Given the description of an element on the screen output the (x, y) to click on. 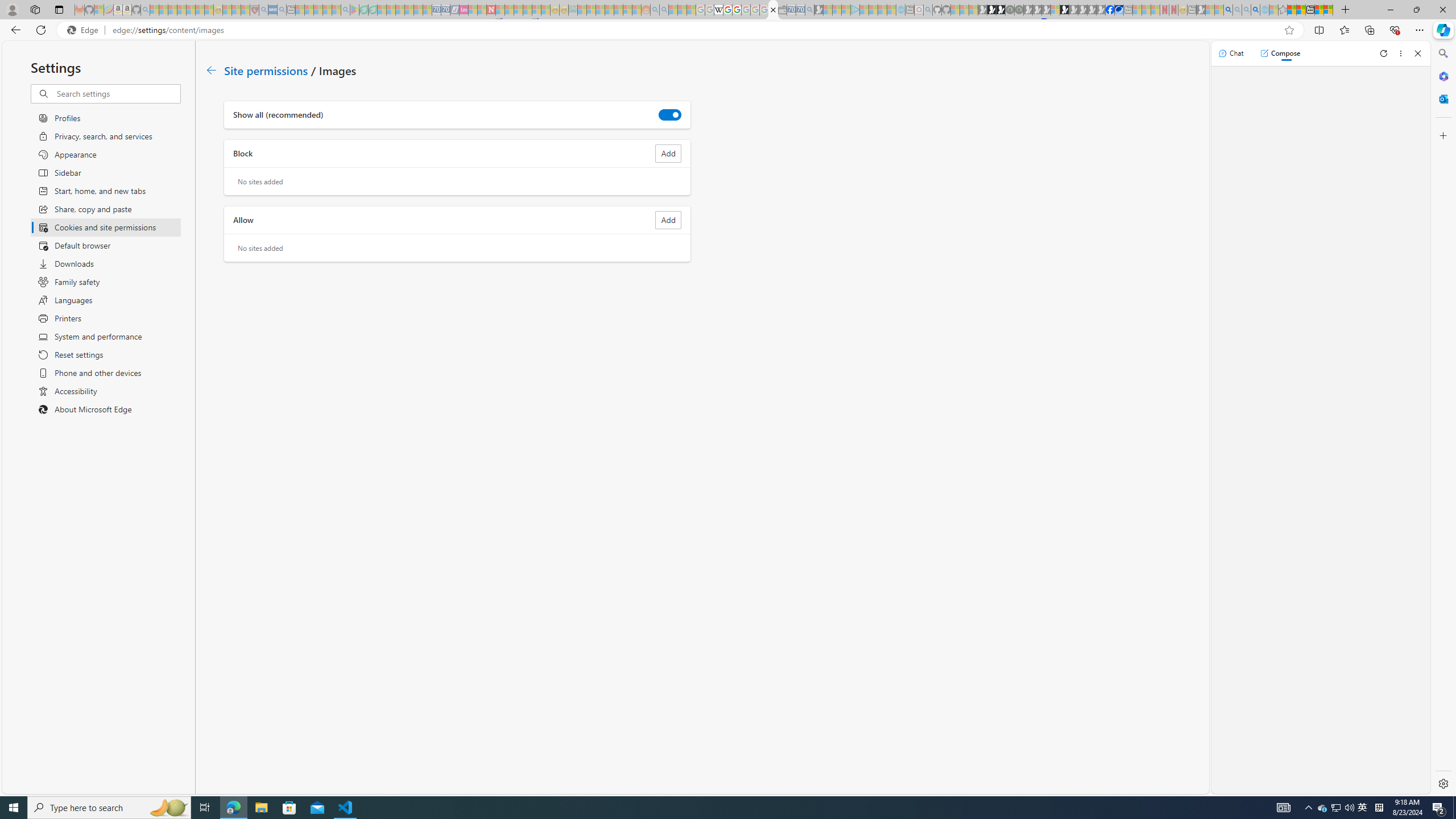
utah sues federal government - Search - Sleeping (281, 9)
